Given the description of an element on the screen output the (x, y) to click on. 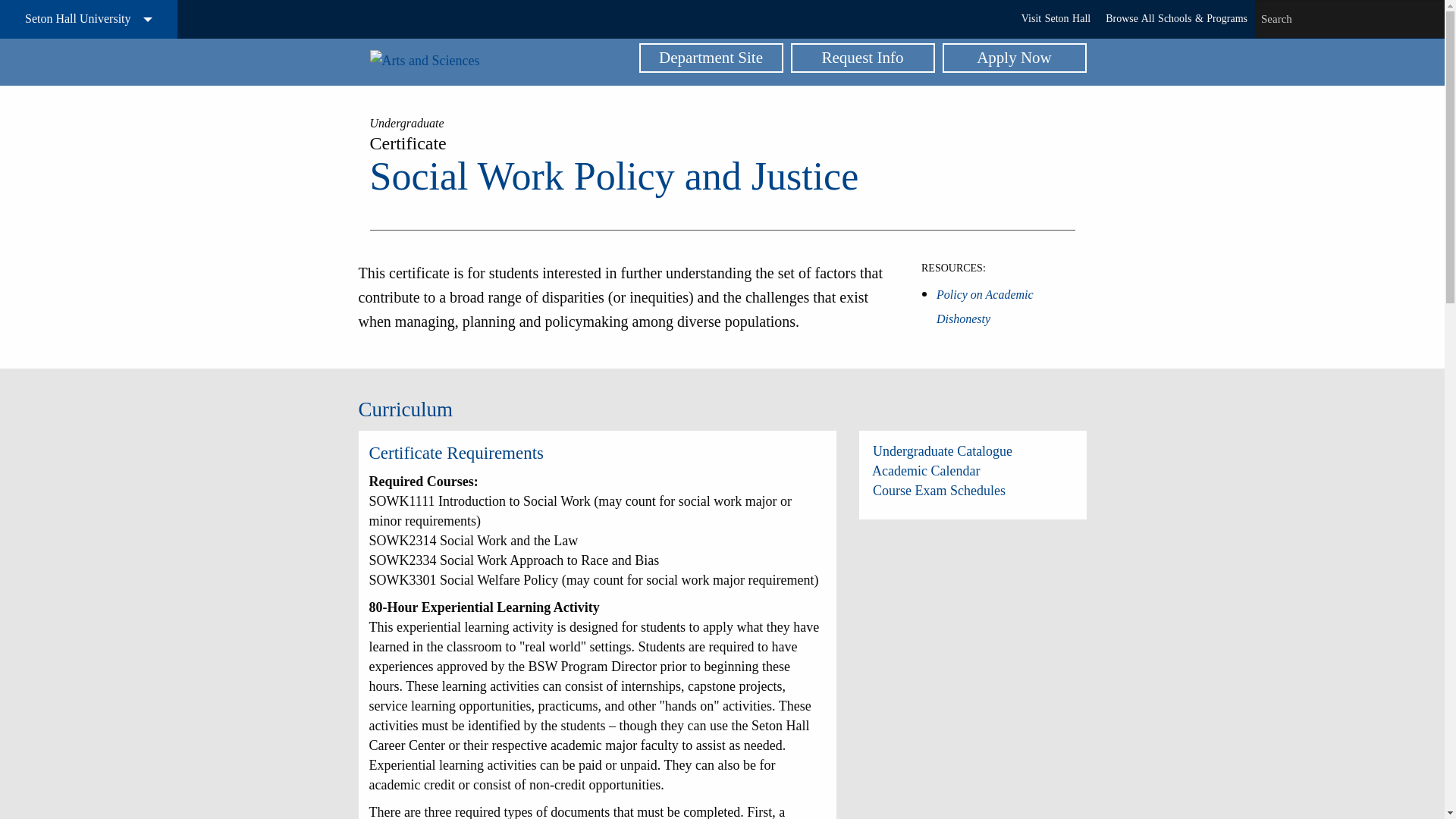
Search (1423, 19)
Seton Hall University (88, 19)
Visit Seton Hall (1055, 18)
